Given the description of an element on the screen output the (x, y) to click on. 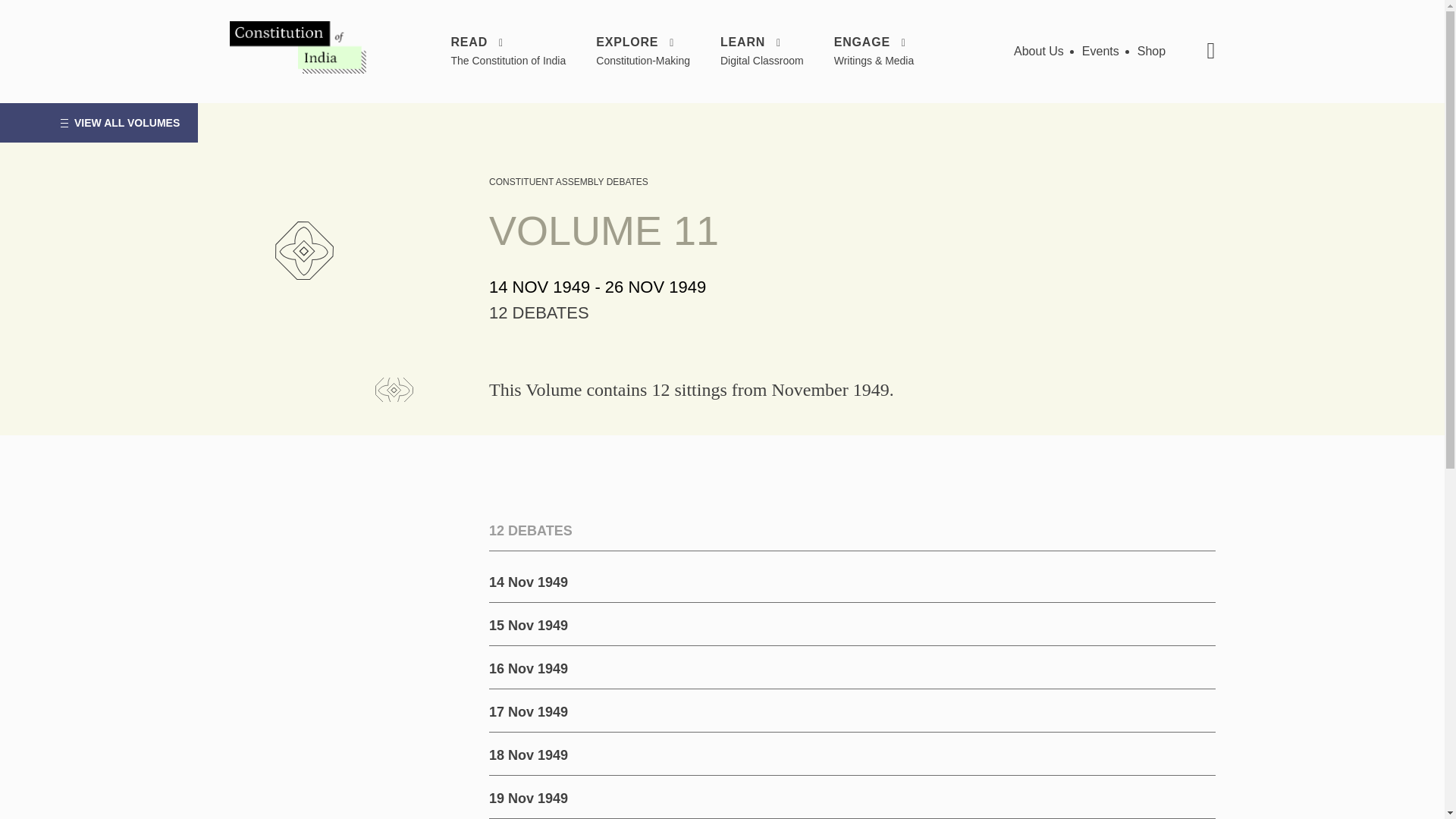
READ (507, 42)
LEARN (761, 42)
Events (1100, 51)
EXPLORE (642, 42)
Shop (1151, 51)
ENGAGE (874, 42)
About Us (1038, 51)
